Given the description of an element on the screen output the (x, y) to click on. 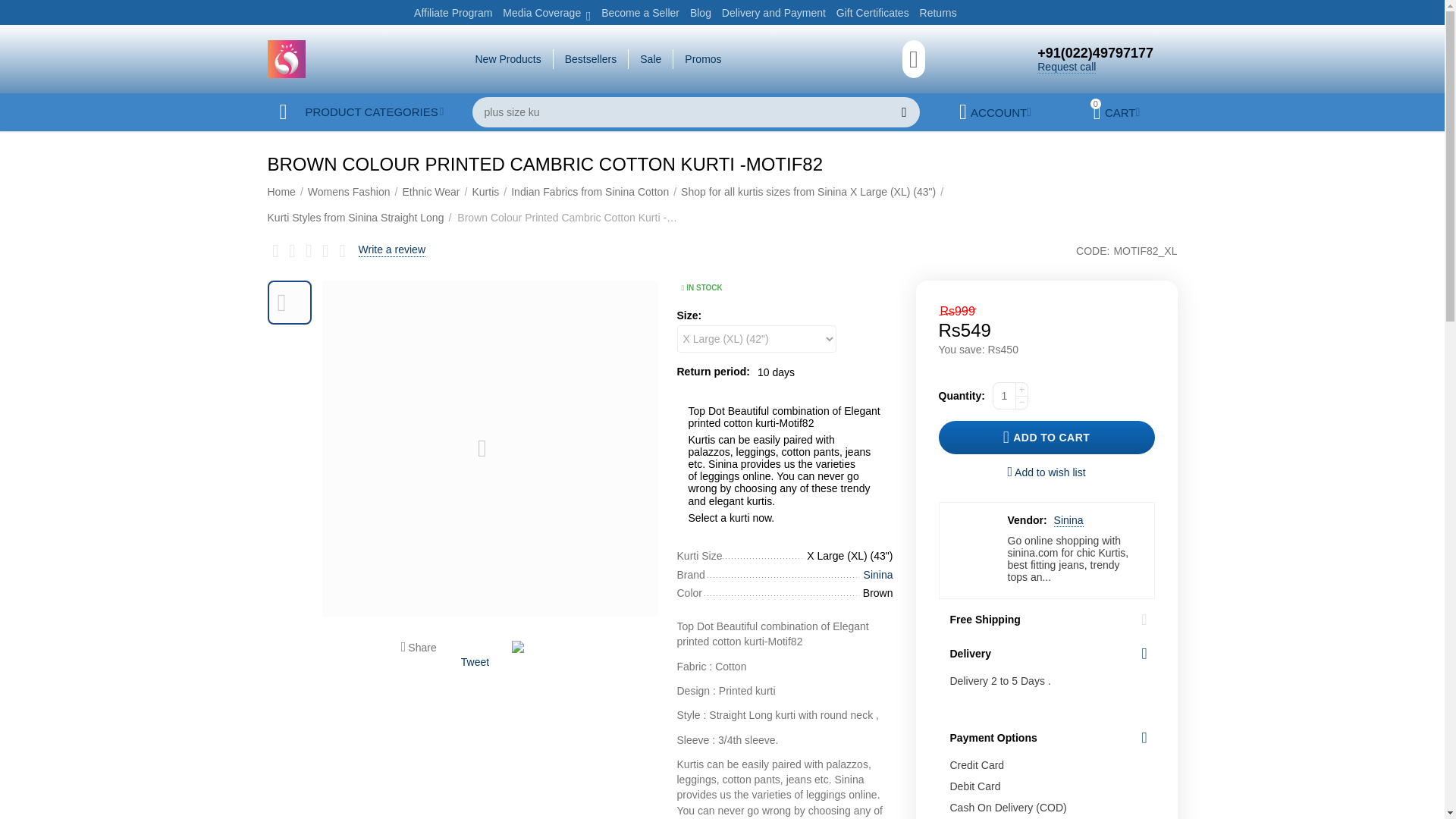
Sale (650, 58)
New Products (507, 58)
No image (289, 302)
Delivery and Payment (773, 12)
Bestsellers (590, 58)
Request call (1066, 66)
Sinina Logo (285, 58)
Affiliate Program (452, 12)
Promos (702, 58)
Media Coverage (541, 12)
